Given the description of an element on the screen output the (x, y) to click on. 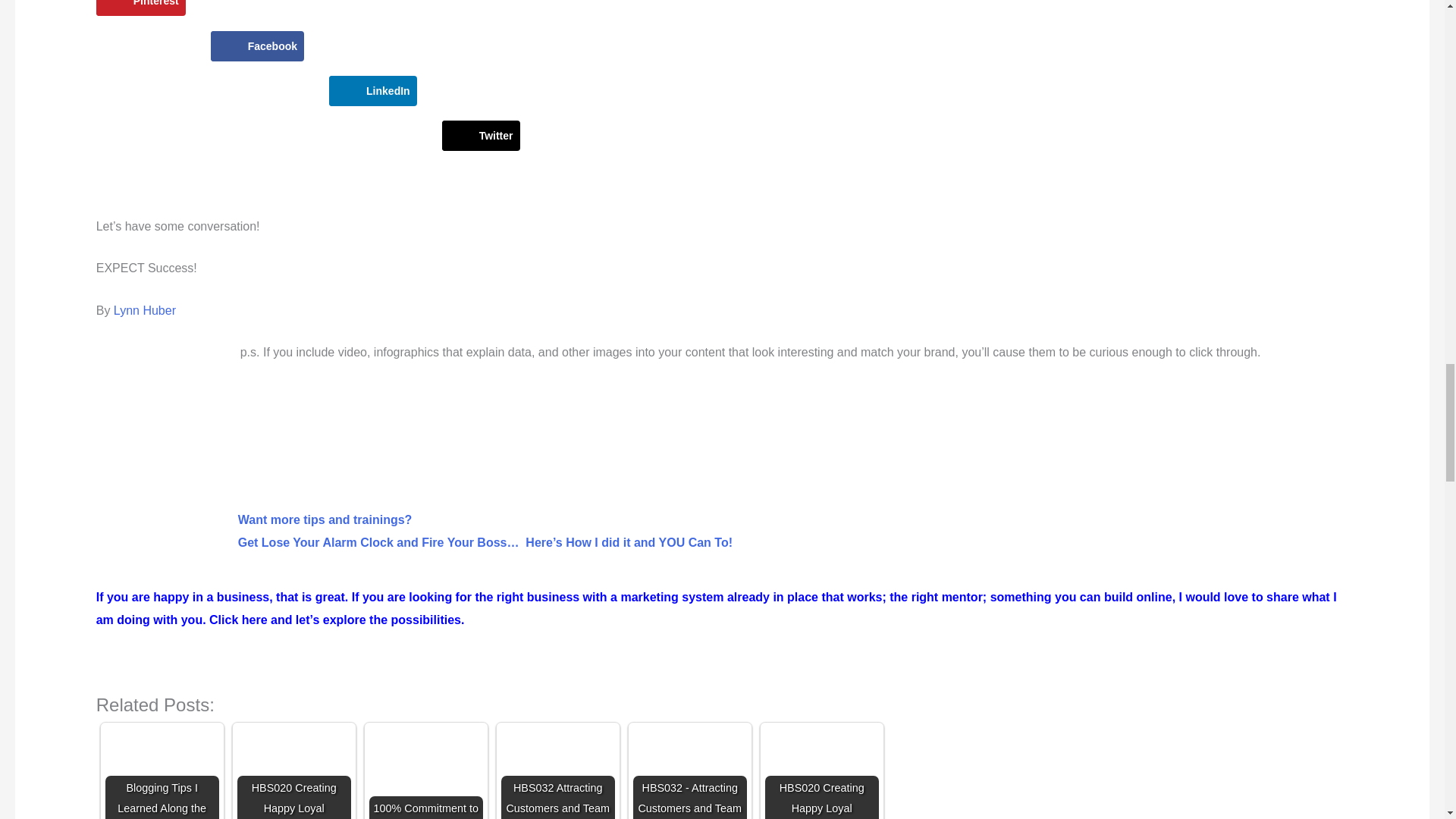
HBS032 - Attracting Customers and Team Members (689, 773)
Share on LinkedIn (372, 91)
Lose Your Alarm Clock and Fire Your Boss (485, 530)
Facebook (257, 46)
LinkedIn (372, 91)
Lynn Huber (144, 309)
HBS032 Attracting Customers and Team Members (557, 773)
HBS020 Creating Happy Loyal Customers (293, 773)
Share on X (480, 135)
Twitter (480, 135)
